Given the description of an element on the screen output the (x, y) to click on. 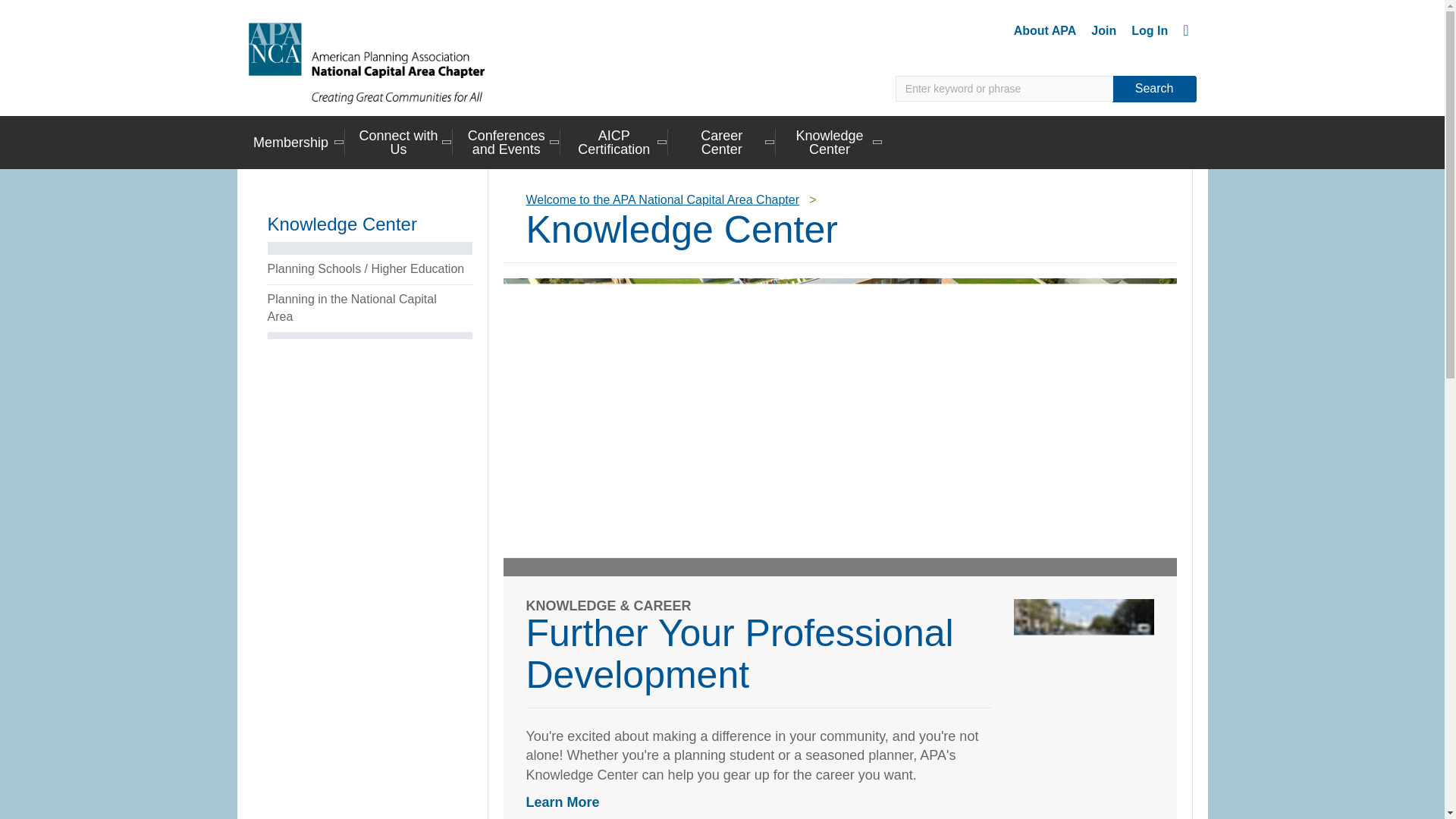
Join (1103, 30)
Join (1103, 30)
Cart (1184, 30)
AICP Certification (614, 141)
About APA (1045, 30)
Conferences and Events (506, 141)
Career Center (722, 141)
Cart (1184, 30)
Log In (1149, 30)
Membership (289, 141)
About APA (1045, 30)
Search (1154, 89)
Knowledge Center (829, 141)
Log In (1149, 30)
Connect with Us (398, 141)
